Given the description of an element on the screen output the (x, y) to click on. 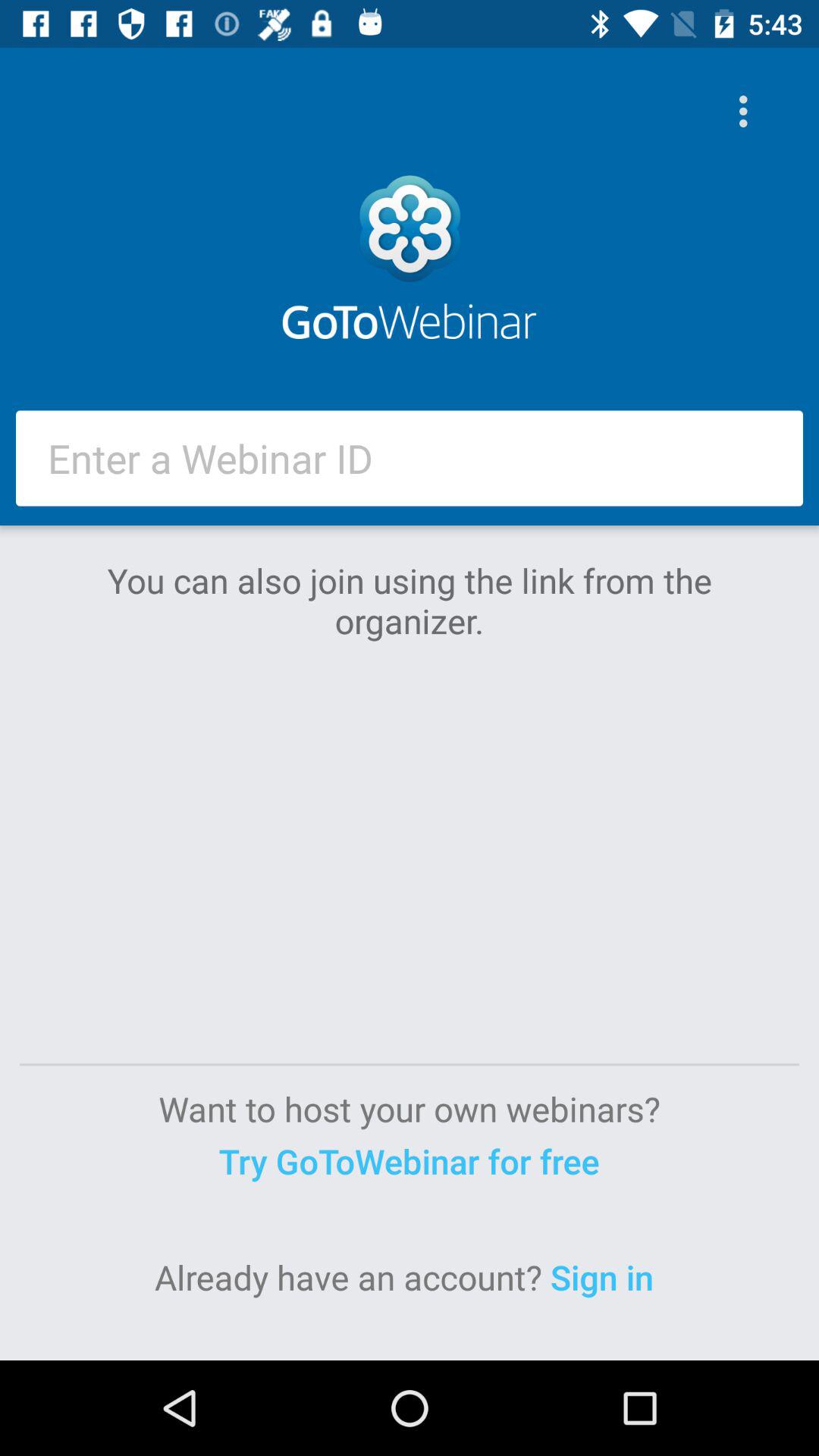
swipe until try gotowebinar for icon (408, 1161)
